Given the description of an element on the screen output the (x, y) to click on. 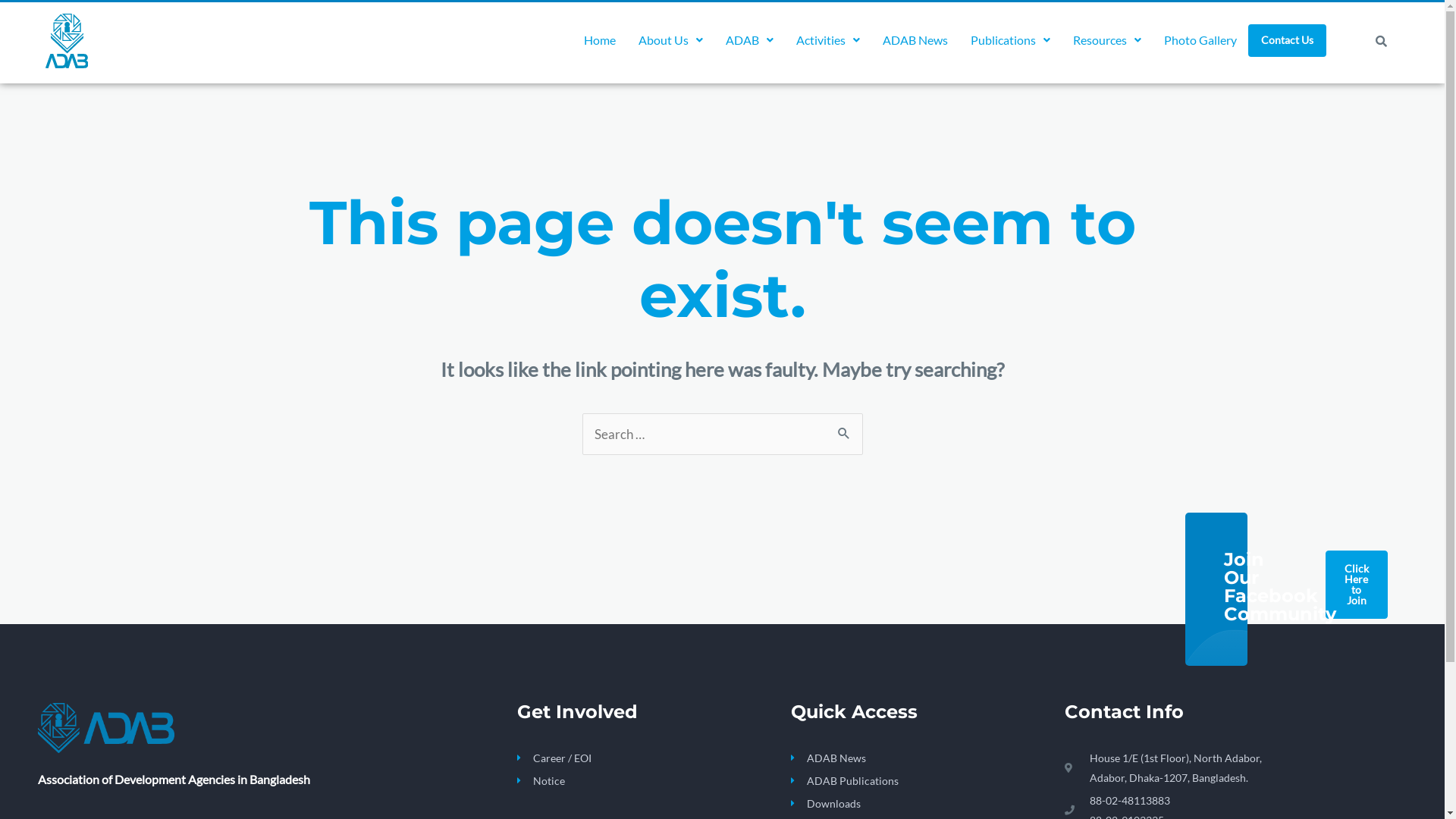
Resources Element type: text (1106, 39)
Career / EOI Element type: text (653, 758)
Photo Gallery Element type: text (1200, 39)
Search Element type: text (845, 428)
Publications Element type: text (1010, 39)
ADAB News Element type: text (915, 39)
Downloads Element type: text (918, 803)
Activities Element type: text (827, 39)
About Us Element type: text (670, 39)
ADAB Element type: text (749, 39)
Contact Us Element type: text (1287, 40)
Home Element type: text (599, 39)
ADAB Publications Element type: text (918, 780)
Search Element type: hover (1377, 40)
ADAB News Element type: text (918, 758)
Click Here to Join Element type: text (1356, 584)
Notice Element type: text (653, 780)
